Given the description of an element on the screen output the (x, y) to click on. 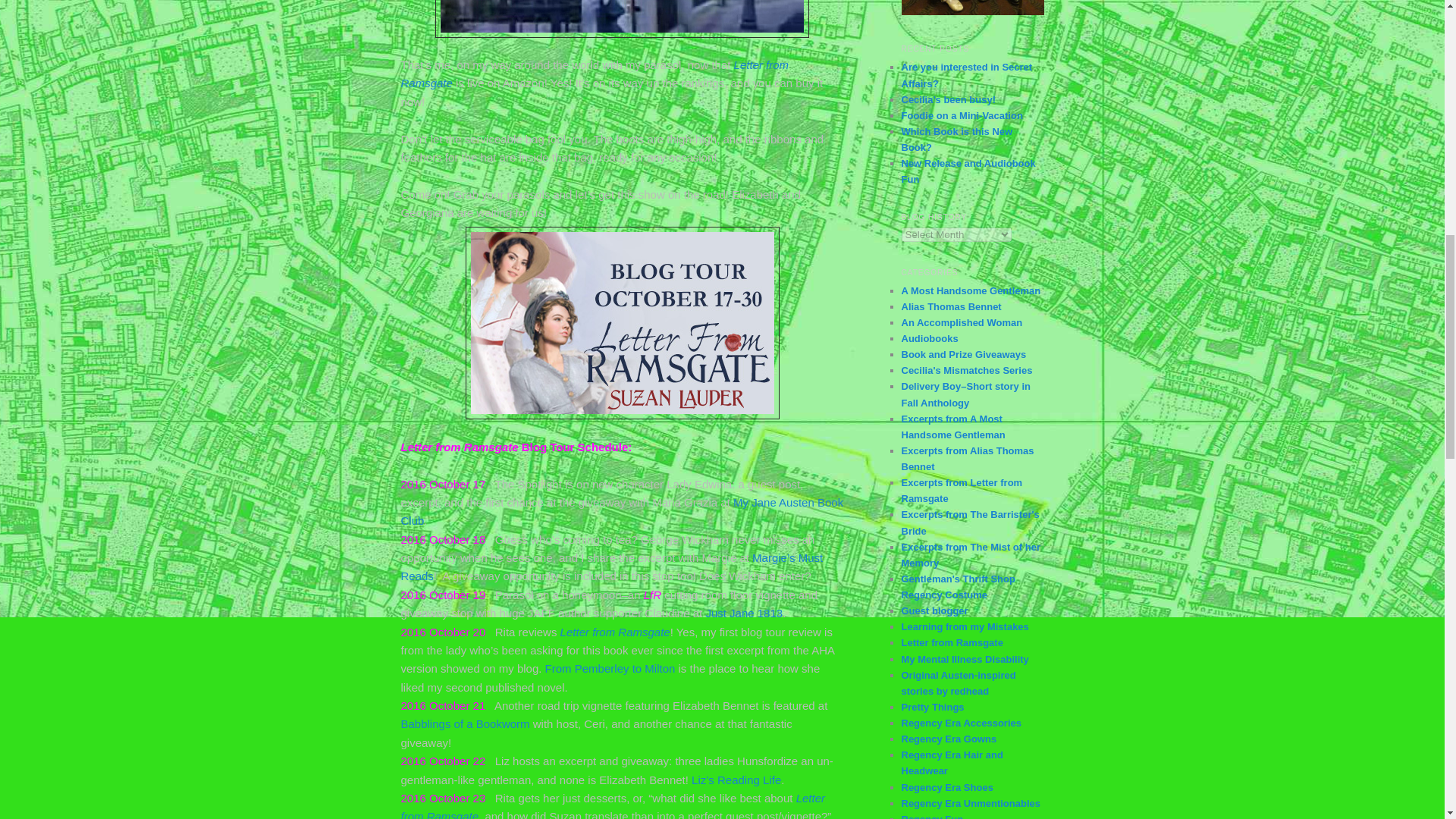
Letter from Ramsgate (594, 73)
Letter from Ramsgate (614, 631)
From Pemberley to Milton (609, 667)
My Jane Austen Book Club (621, 511)
Babblings of a Bookworm (464, 723)
Just Jane 1813 (743, 612)
Letter from Ramsgate (612, 805)
